Given the description of an element on the screen output the (x, y) to click on. 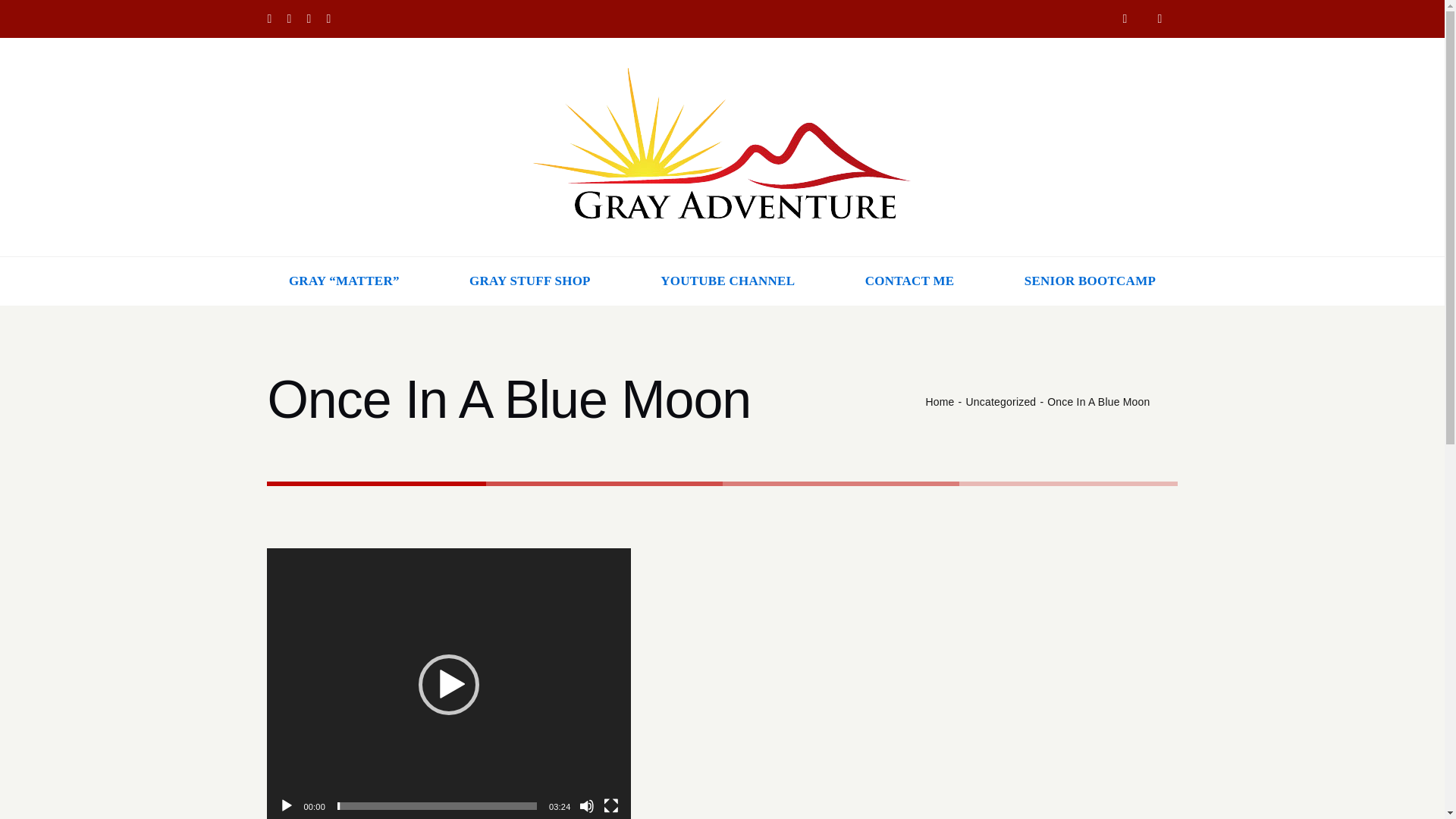
GRAY STUFF SHOP (529, 281)
Play (286, 806)
Home (938, 401)
CONTACT ME (909, 281)
Fullscreen (611, 806)
Uncategorized (1000, 401)
YOUTUBE CHANNEL (727, 281)
Mute (586, 806)
SENIOR BOOTCAMP (1090, 281)
